Given the description of an element on the screen output the (x, y) to click on. 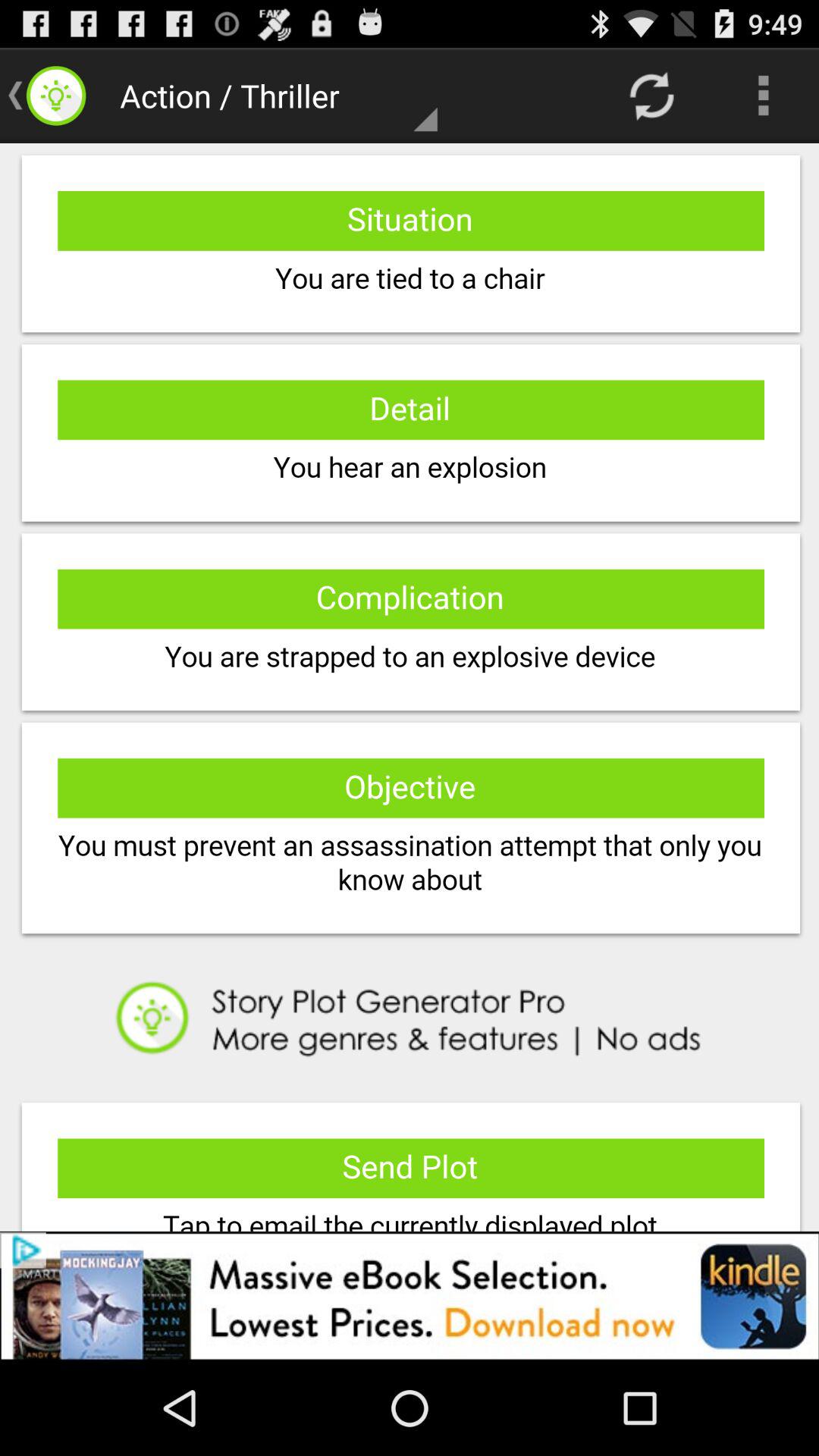
story options menu (409, 687)
